Given the description of an element on the screen output the (x, y) to click on. 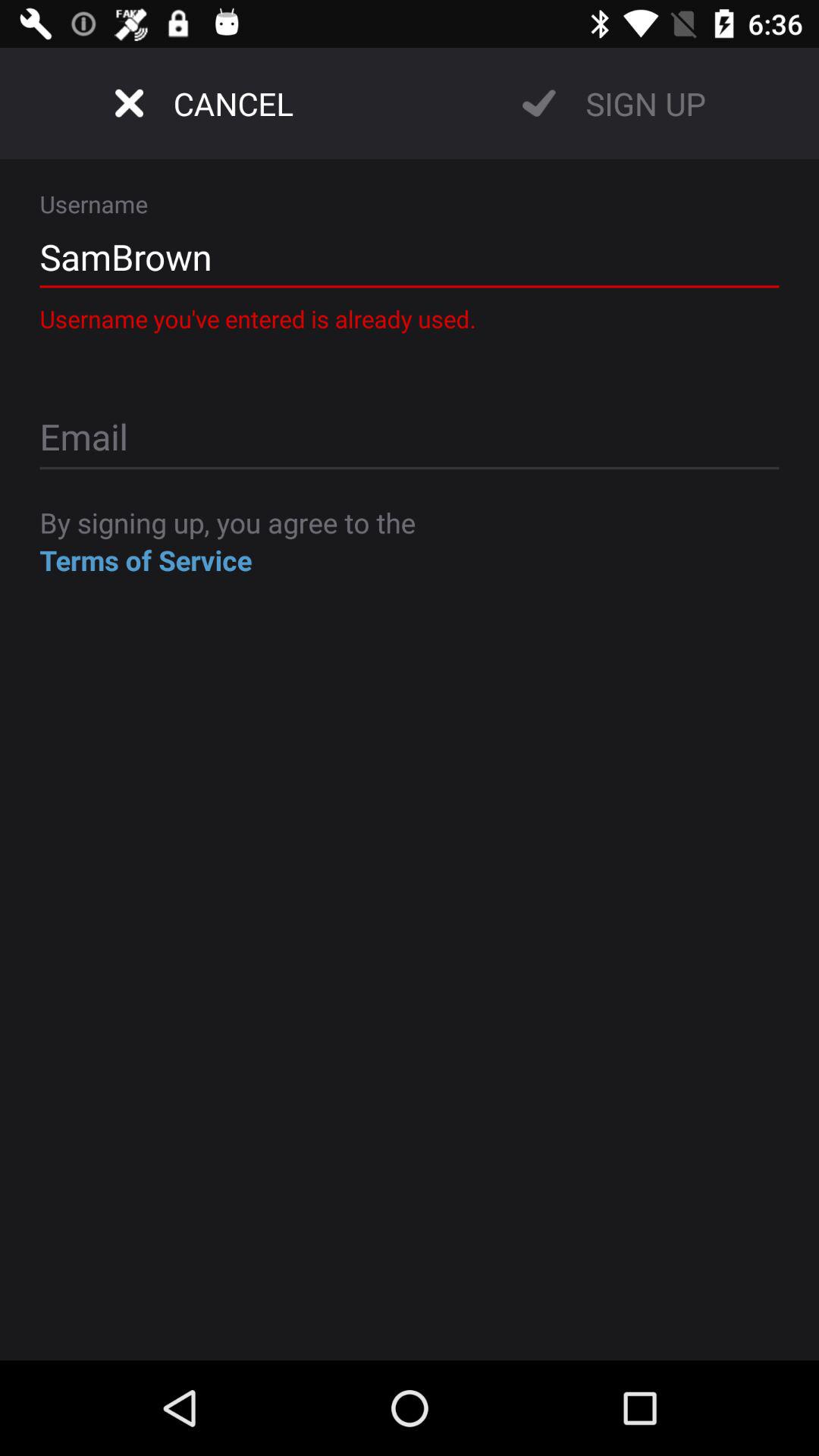
put email (409, 439)
